Given the description of an element on the screen output the (x, y) to click on. 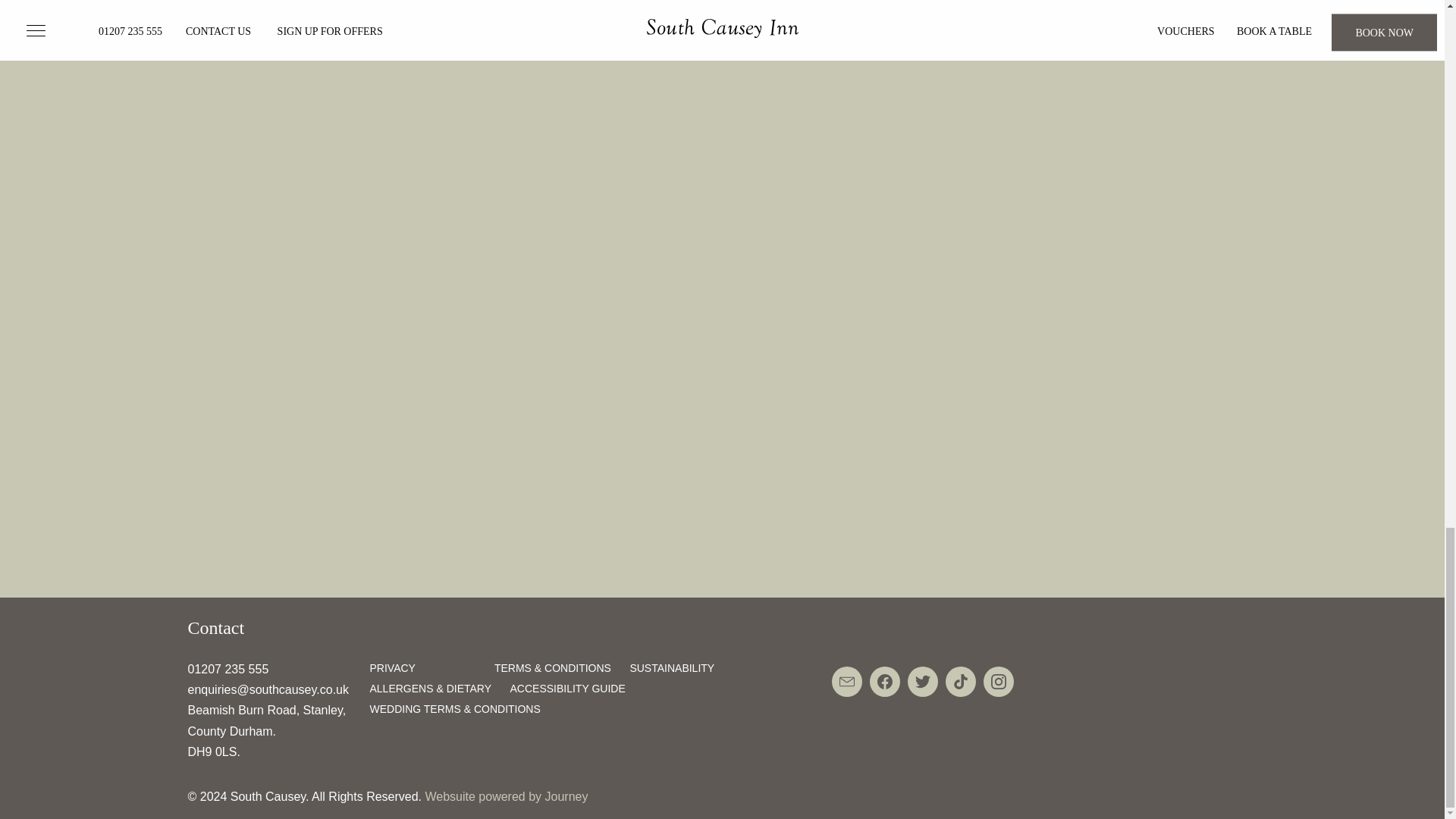
Find South Causey on Tiktok (959, 681)
PRIVACY (391, 667)
SUSTAINABILITY (671, 667)
Find South Causey on Facebook (884, 681)
Email South Causey (846, 681)
Find South Causey on Twitter (922, 681)
Find South Causey on Instagram (998, 681)
